Given the description of an element on the screen output the (x, y) to click on. 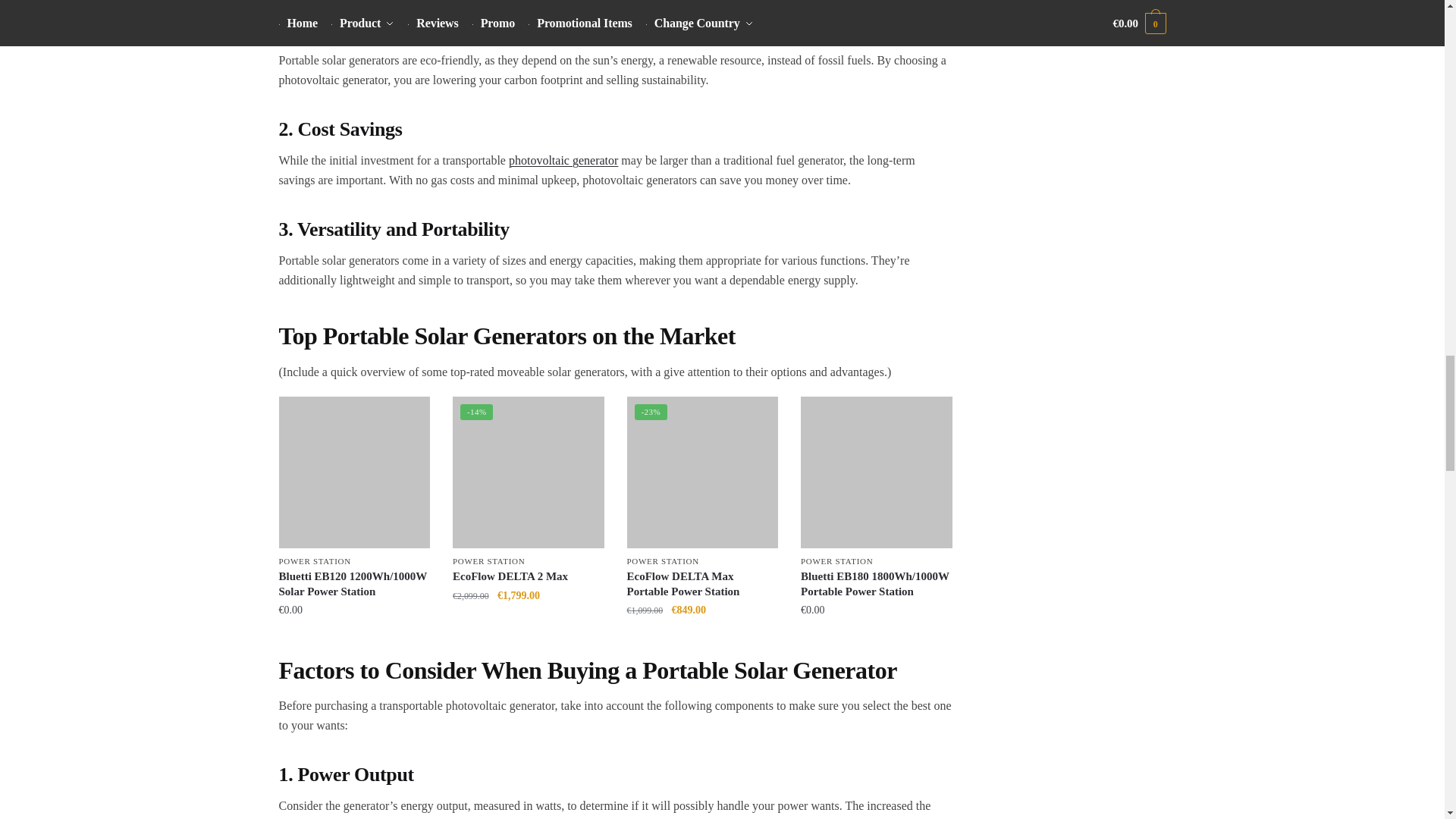
POWER STATION (314, 560)
EcoFlow DELTA Max Portable Power Station (702, 471)
photovoltaic generator (562, 160)
EcoFlow DELTA 2 Max (528, 471)
